Given the description of an element on the screen output the (x, y) to click on. 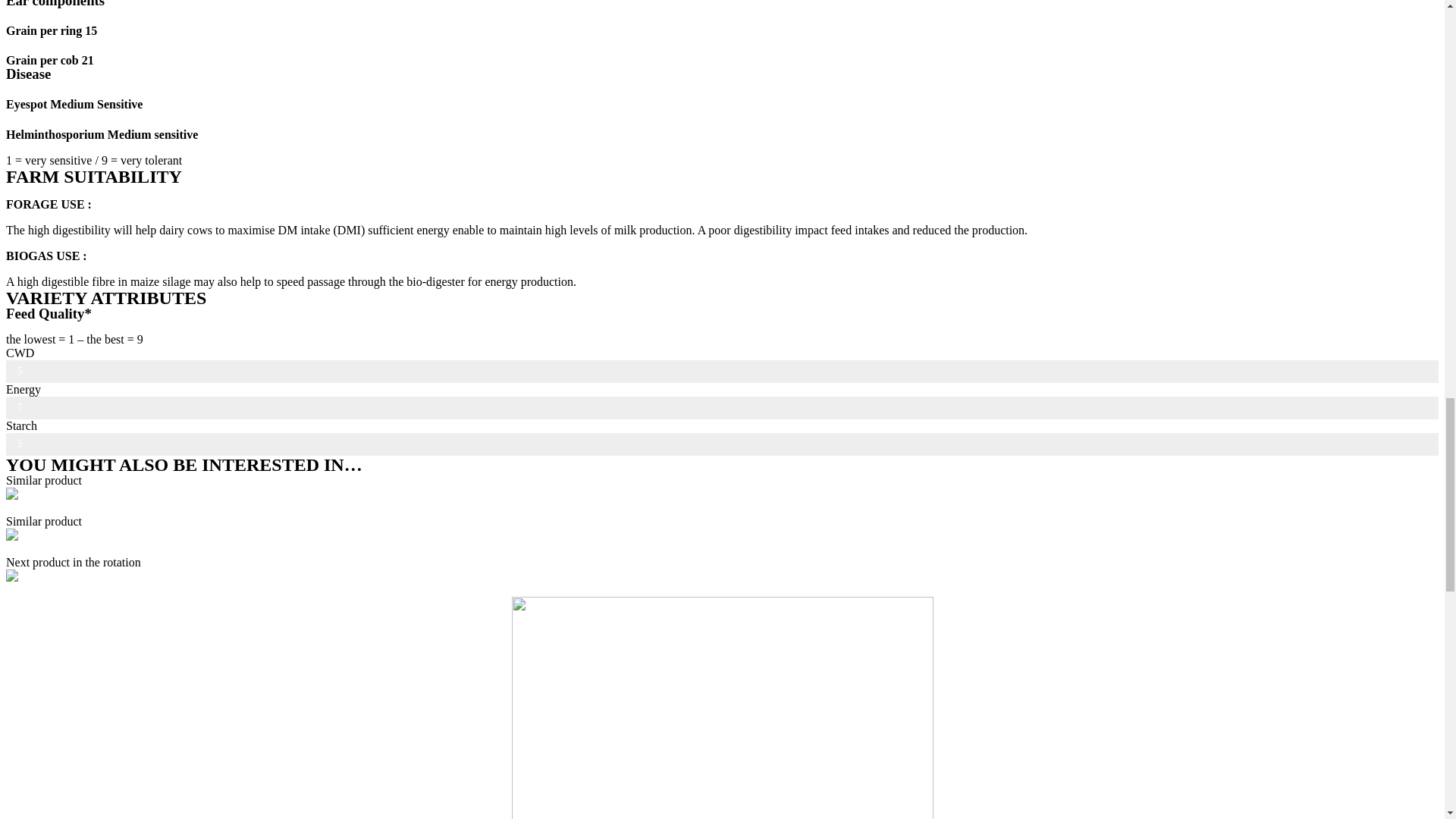
RGT BLUEFOXX 1 (47, 494)
RGT KIRIAL 3 (134, 576)
RGT DUXXBURY 2 (49, 535)
